Given the description of an element on the screen output the (x, y) to click on. 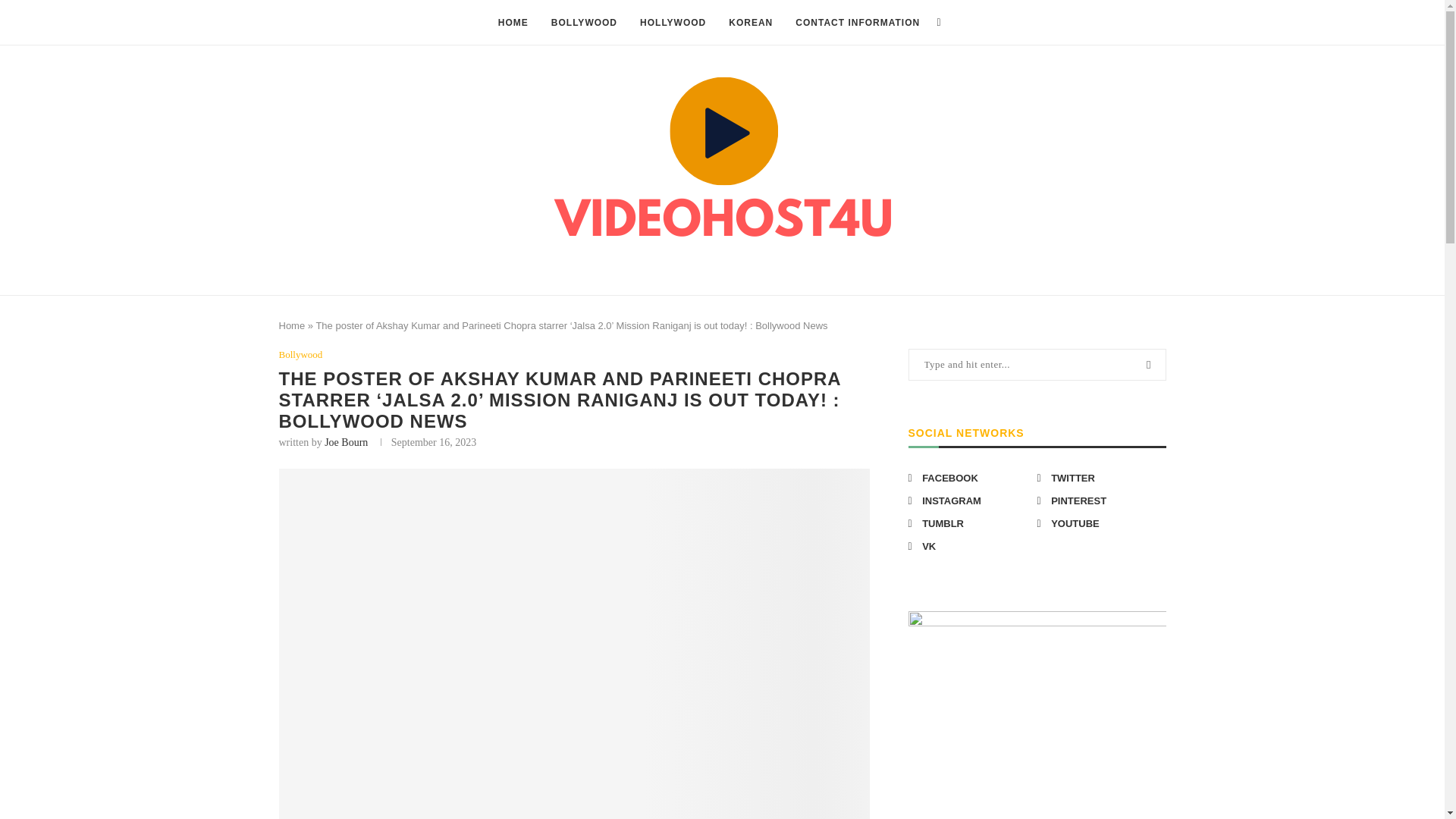
Joe Bourn (346, 441)
Home (292, 325)
Bollywood (301, 354)
HOLLYWOOD (673, 22)
KOREAN (751, 22)
CONTACT INFORMATION (857, 22)
BOLLYWOOD (584, 22)
